Given the description of an element on the screen output the (x, y) to click on. 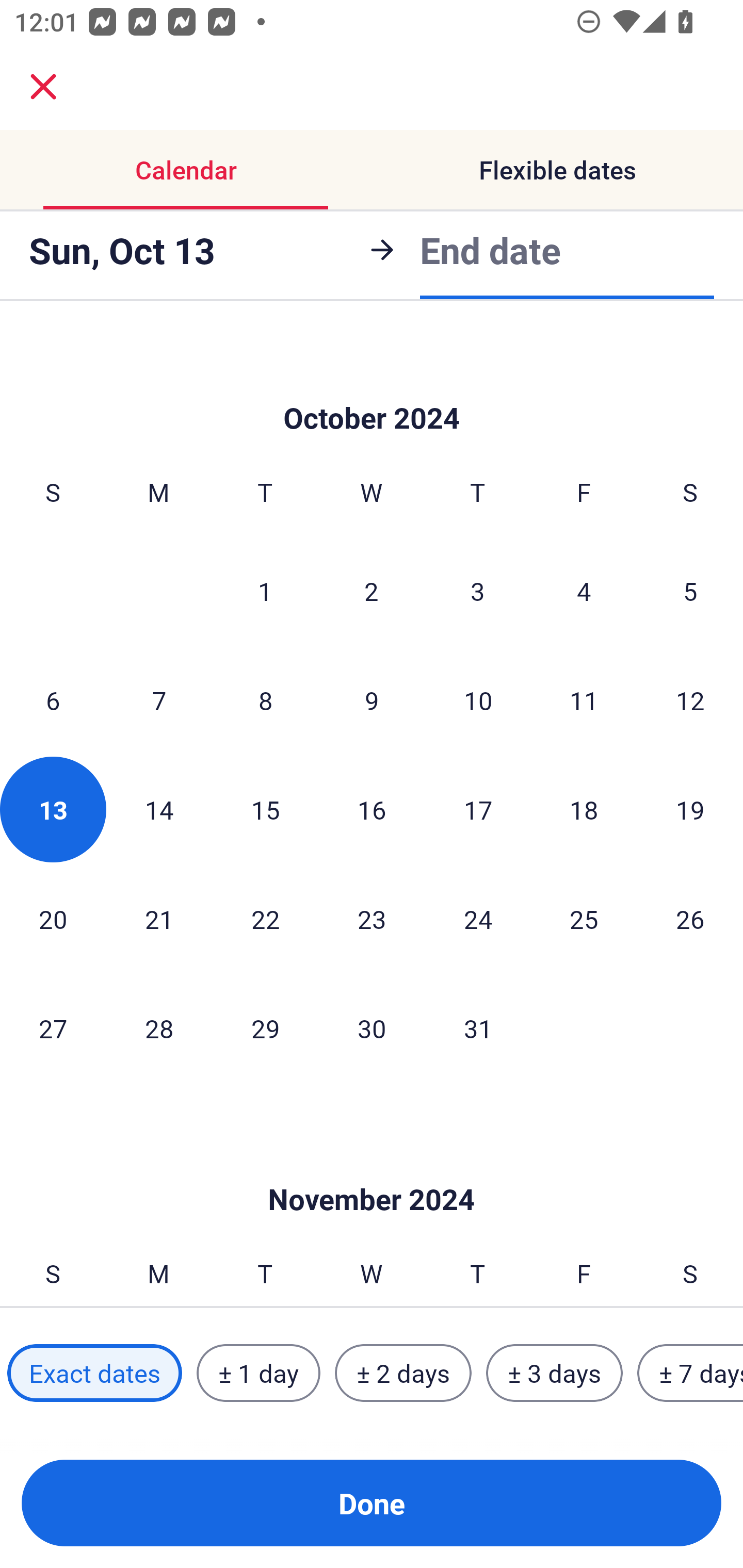
close. (43, 86)
Flexible dates (557, 170)
End date (489, 249)
Skip to Done (371, 387)
1 Tuesday, October 1, 2024 (264, 590)
2 Wednesday, October 2, 2024 (371, 590)
3 Thursday, October 3, 2024 (477, 590)
4 Friday, October 4, 2024 (584, 590)
5 Saturday, October 5, 2024 (690, 590)
6 Sunday, October 6, 2024 (53, 699)
7 Monday, October 7, 2024 (159, 699)
8 Tuesday, October 8, 2024 (265, 699)
9 Wednesday, October 9, 2024 (371, 699)
10 Thursday, October 10, 2024 (477, 699)
11 Friday, October 11, 2024 (584, 699)
12 Saturday, October 12, 2024 (690, 699)
14 Monday, October 14, 2024 (159, 809)
15 Tuesday, October 15, 2024 (265, 809)
16 Wednesday, October 16, 2024 (371, 809)
17 Thursday, October 17, 2024 (477, 809)
18 Friday, October 18, 2024 (584, 809)
19 Saturday, October 19, 2024 (690, 809)
20 Sunday, October 20, 2024 (53, 918)
21 Monday, October 21, 2024 (159, 918)
22 Tuesday, October 22, 2024 (265, 918)
23 Wednesday, October 23, 2024 (371, 918)
24 Thursday, October 24, 2024 (477, 918)
25 Friday, October 25, 2024 (584, 918)
26 Saturday, October 26, 2024 (690, 918)
27 Sunday, October 27, 2024 (53, 1027)
28 Monday, October 28, 2024 (159, 1027)
29 Tuesday, October 29, 2024 (265, 1027)
30 Wednesday, October 30, 2024 (371, 1027)
31 Thursday, October 31, 2024 (477, 1027)
Skip to Done (371, 1168)
Exact dates (94, 1372)
± 1 day (258, 1372)
± 2 days (403, 1372)
± 3 days (553, 1372)
± 7 days (690, 1372)
Done (371, 1502)
